Given the description of an element on the screen output the (x, y) to click on. 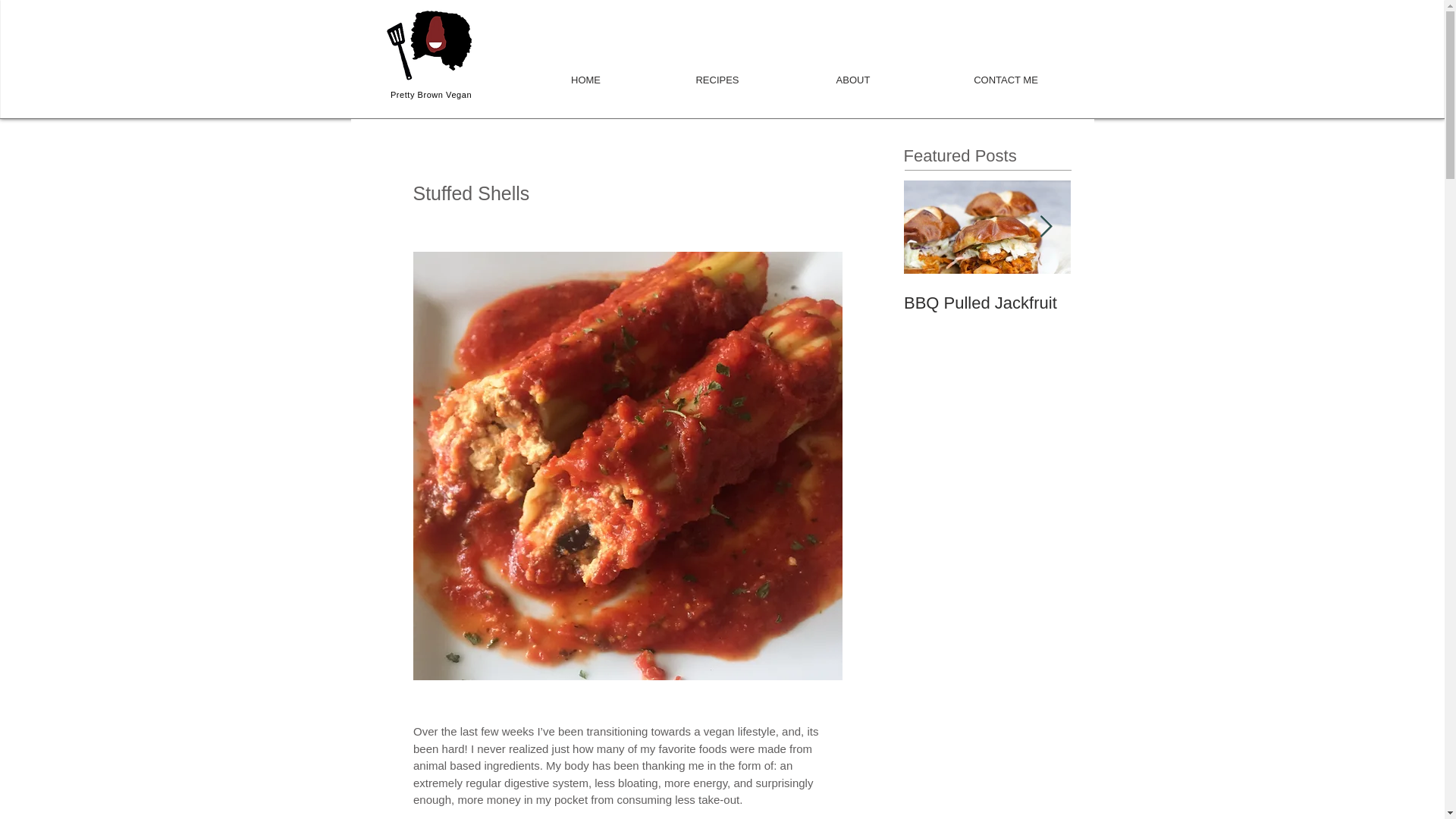
HOME (585, 73)
ABOUT (853, 73)
BBQ Pulled Jackfruit (987, 302)
CONTACT ME (1005, 73)
RECIPES (716, 73)
